Given the description of an element on the screen output the (x, y) to click on. 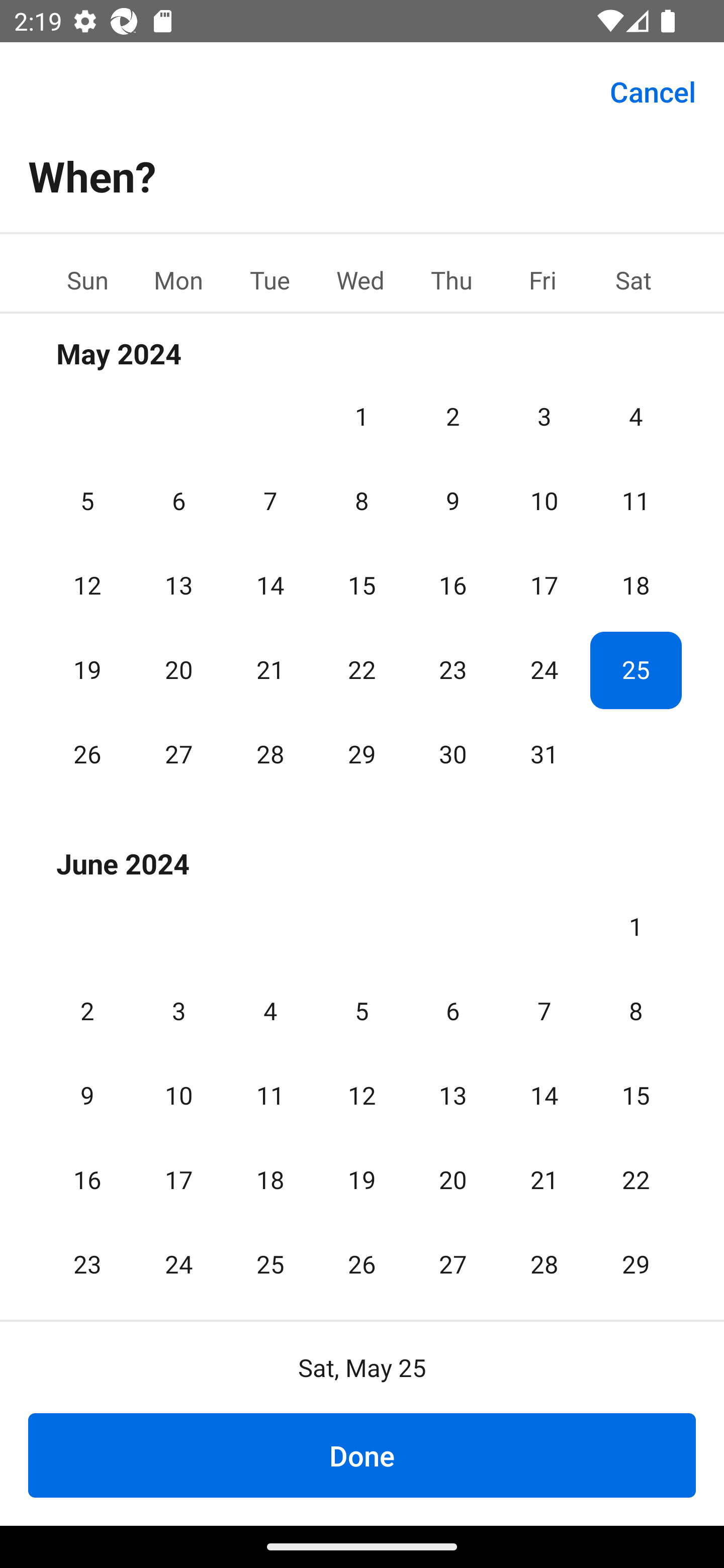
Cancel (652, 90)
Done (361, 1454)
